Given the description of an element on the screen output the (x, y) to click on. 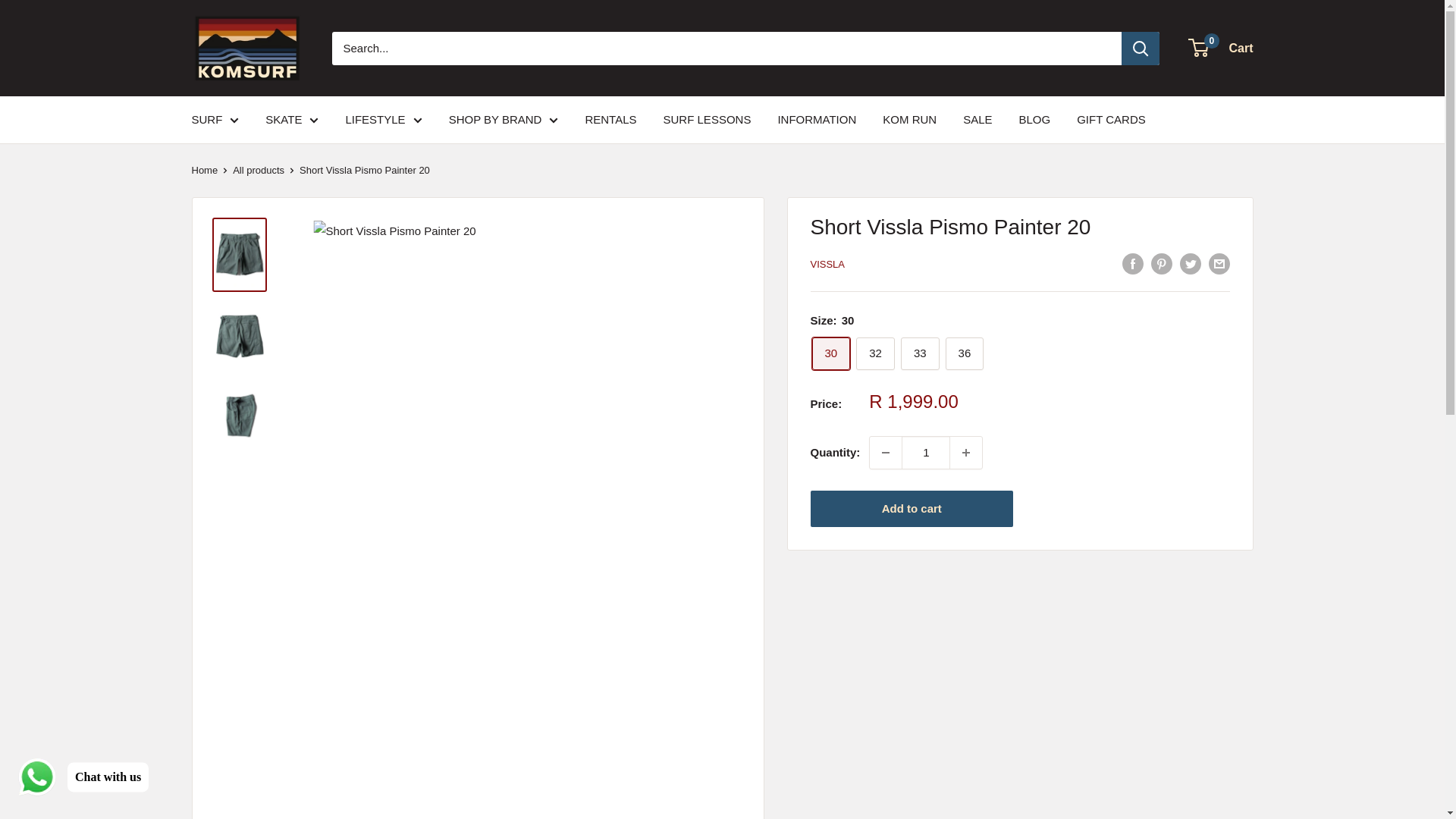
36 (964, 353)
Increase quantity by 1 (965, 452)
1 (925, 452)
32 (875, 353)
33 (920, 353)
30 (830, 353)
Decrease quantity by 1 (885, 452)
